Given the description of an element on the screen output the (x, y) to click on. 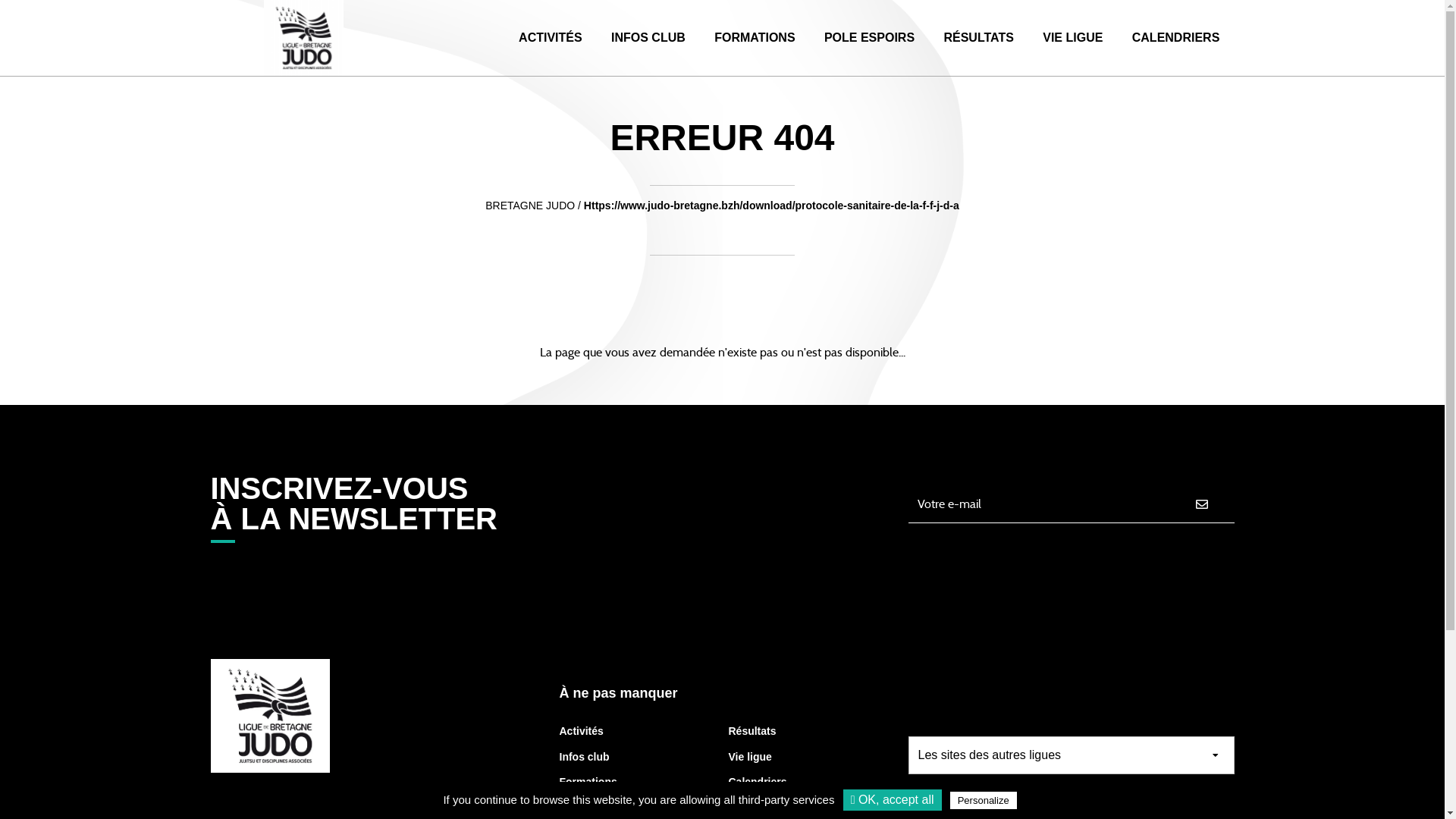
POLE ESPOIRS Element type: text (869, 37)
BRETAGNE JUDO Element type: text (529, 205)
Personalize Element type: text (983, 800)
Infos club Element type: text (584, 756)
CALENDRIERS Element type: text (1176, 37)
Formations Element type: text (588, 781)
FORMATIONS Element type: text (754, 37)
INFOS CLUB Element type: text (648, 37)
VIE LIGUE Element type: text (1072, 37)
Vie ligue Element type: text (749, 756)
Calendriers Element type: text (757, 781)
Pole espoirs Element type: text (590, 807)
